Given the description of an element on the screen output the (x, y) to click on. 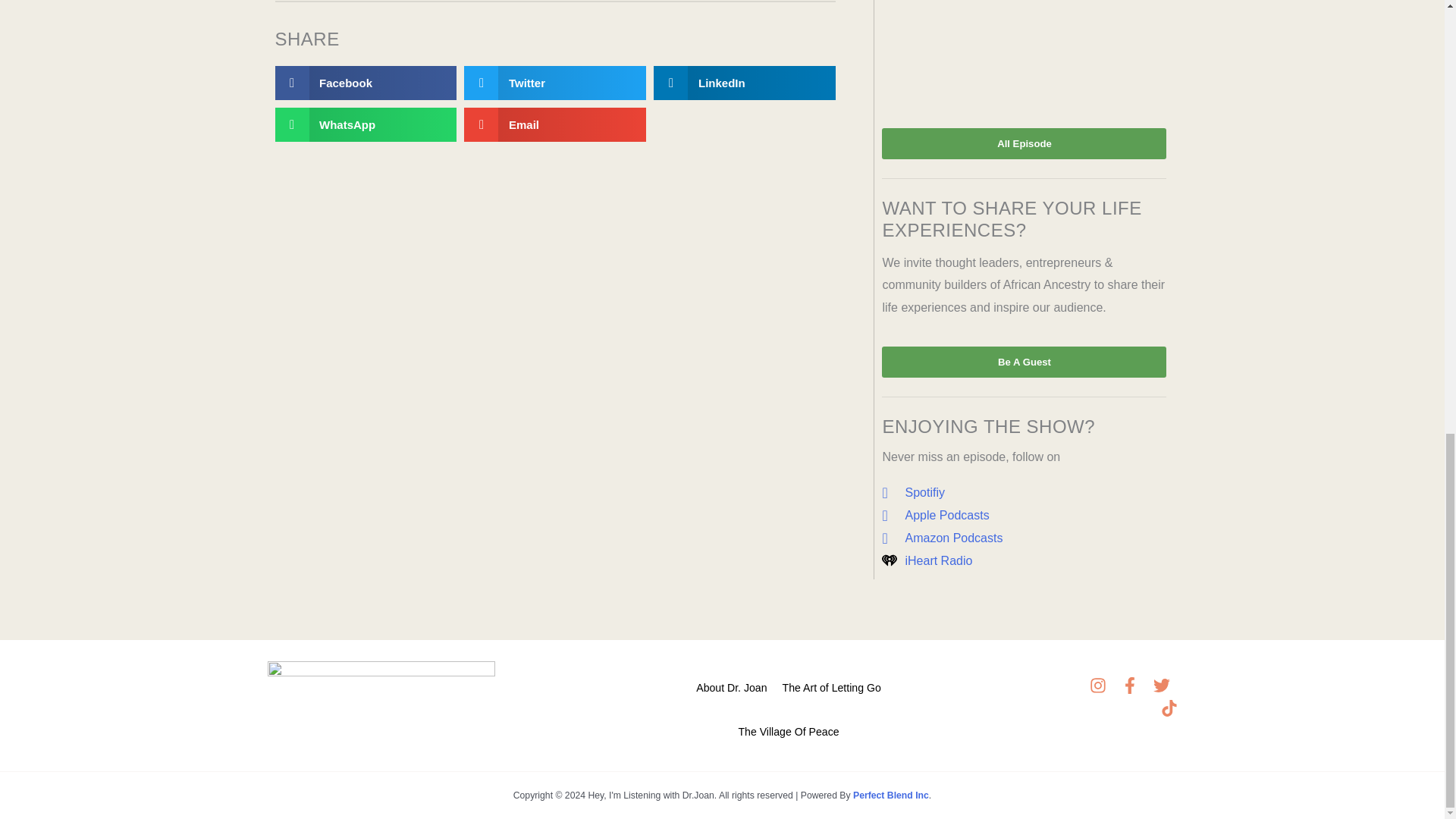
Amazon Podcasts (1024, 538)
Spotifiy (1024, 492)
iHeart Radio (1024, 560)
About Dr. Joan (731, 682)
Apple Podcasts (1024, 515)
Be A Guest (1024, 361)
All Episode (1024, 142)
